Given the description of an element on the screen output the (x, y) to click on. 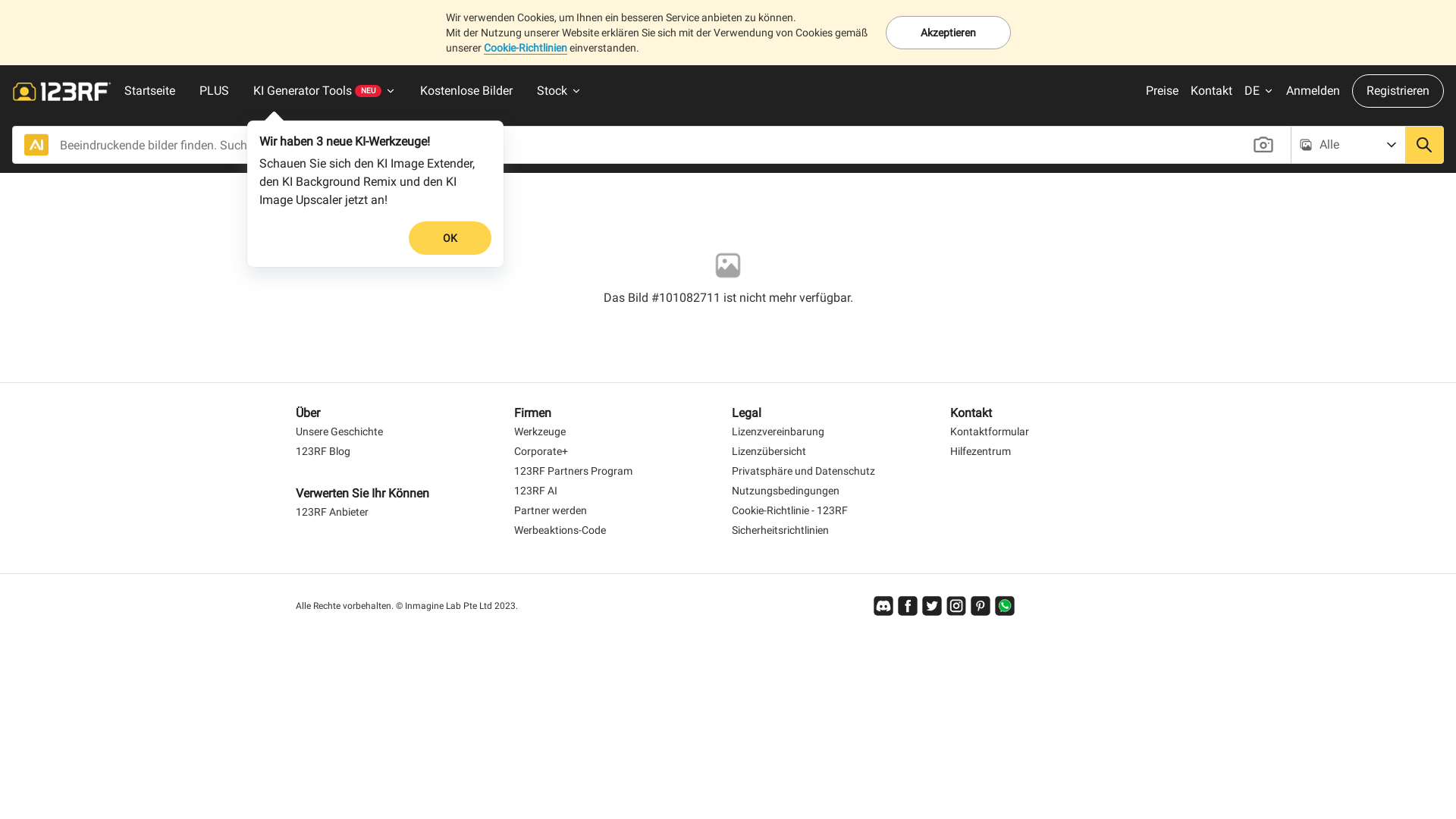
Akzeptieren Element type: text (947, 32)
Startseite Element type: text (149, 90)
Registrieren Element type: text (1397, 90)
123RF Blog Element type: text (322, 451)
PLUS Element type: text (214, 90)
Kontaktformular Element type: text (988, 431)
Partner werden Element type: text (550, 510)
Kostenlose Bilder Element type: text (466, 90)
Kontakt Element type: text (1211, 90)
Cookie-Richtlinien Element type: text (525, 47)
Cookie-Richtlinie - 123RF Element type: text (789, 510)
Nutzungsbedingungen Element type: text (785, 490)
Sicherheitsrichtlinien Element type: text (779, 530)
Anmelden Element type: text (1313, 90)
Unsere Geschichte Element type: text (338, 431)
Werbeaktions-Code Element type: text (559, 530)
OK Element type: text (449, 237)
123RF Anbieter Element type: text (331, 512)
123RF AI Element type: text (535, 490)
Preise Element type: text (1161, 90)
Werkzeuge Element type: text (539, 431)
Lizenzvereinbarung Element type: text (777, 431)
123RF Partners Program Element type: text (573, 471)
Corporate+ Element type: text (540, 451)
Hilfezentrum Element type: text (979, 451)
